Given the description of an element on the screen output the (x, y) to click on. 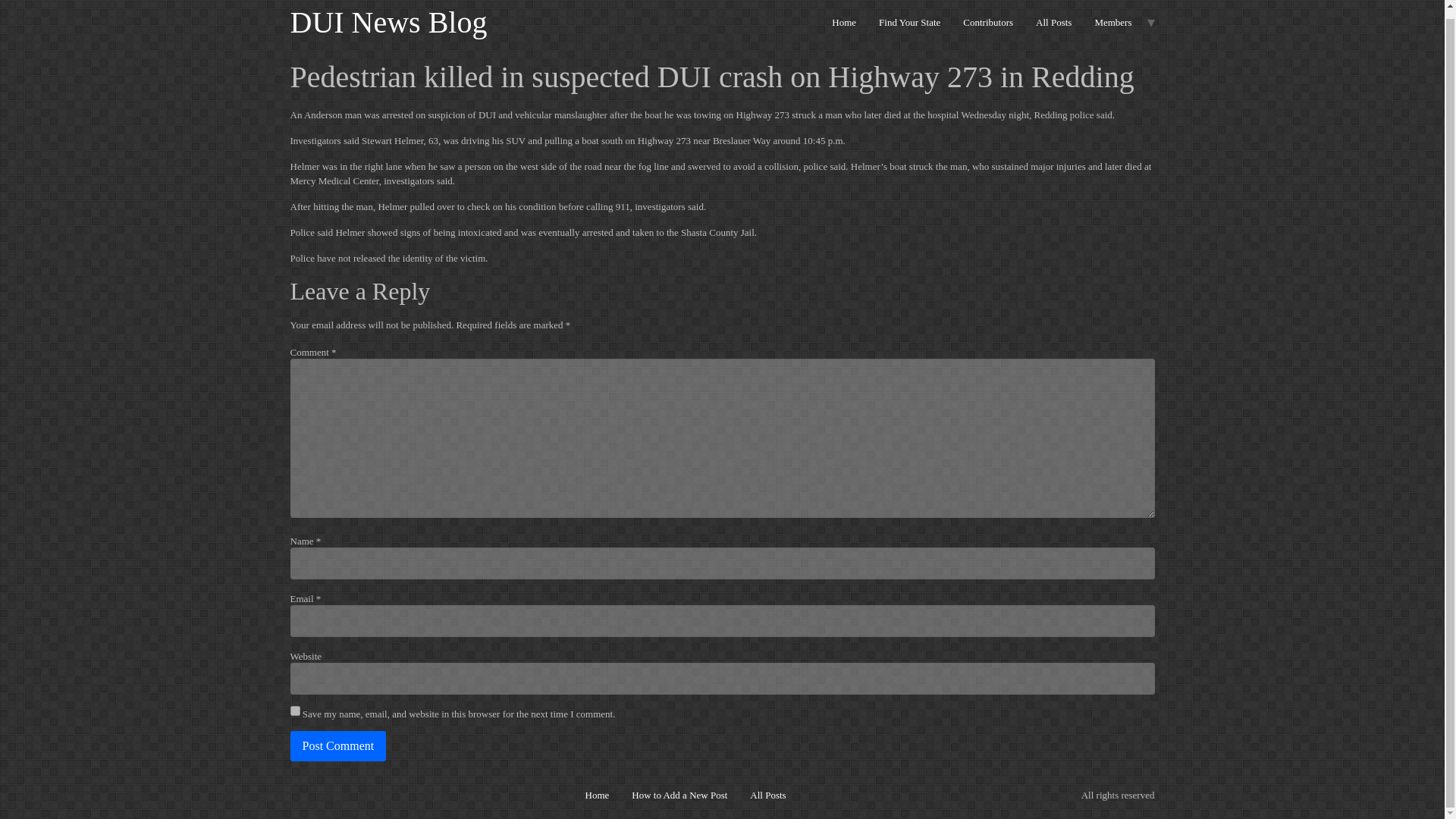
How to Add a New Post (679, 794)
Find Your State (909, 22)
All Posts (767, 794)
Home (597, 794)
DUI News Blog (387, 21)
Home (387, 21)
All Posts (1054, 22)
Post Comment (337, 746)
Post Comment (337, 746)
yes (294, 710)
